Given the description of an element on the screen output the (x, y) to click on. 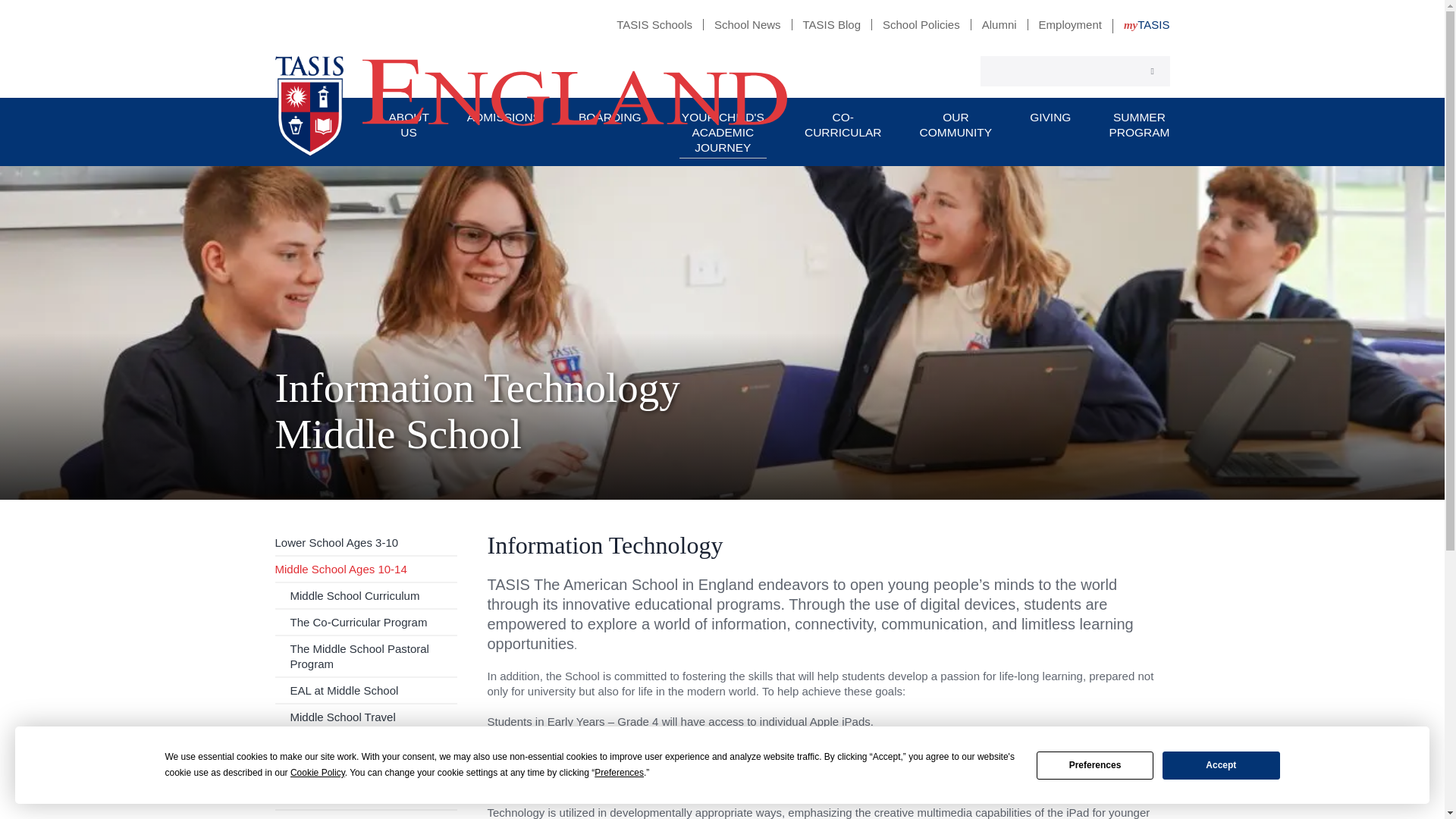
Preferences (1094, 764)
Accept (1220, 764)
